Given the description of an element on the screen output the (x, y) to click on. 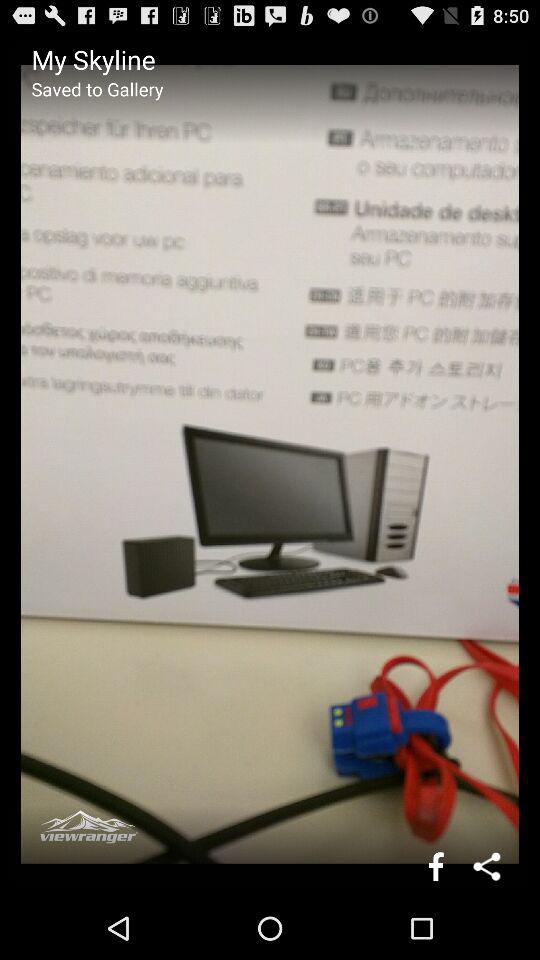
share the content (488, 866)
